Given the description of an element on the screen output the (x, y) to click on. 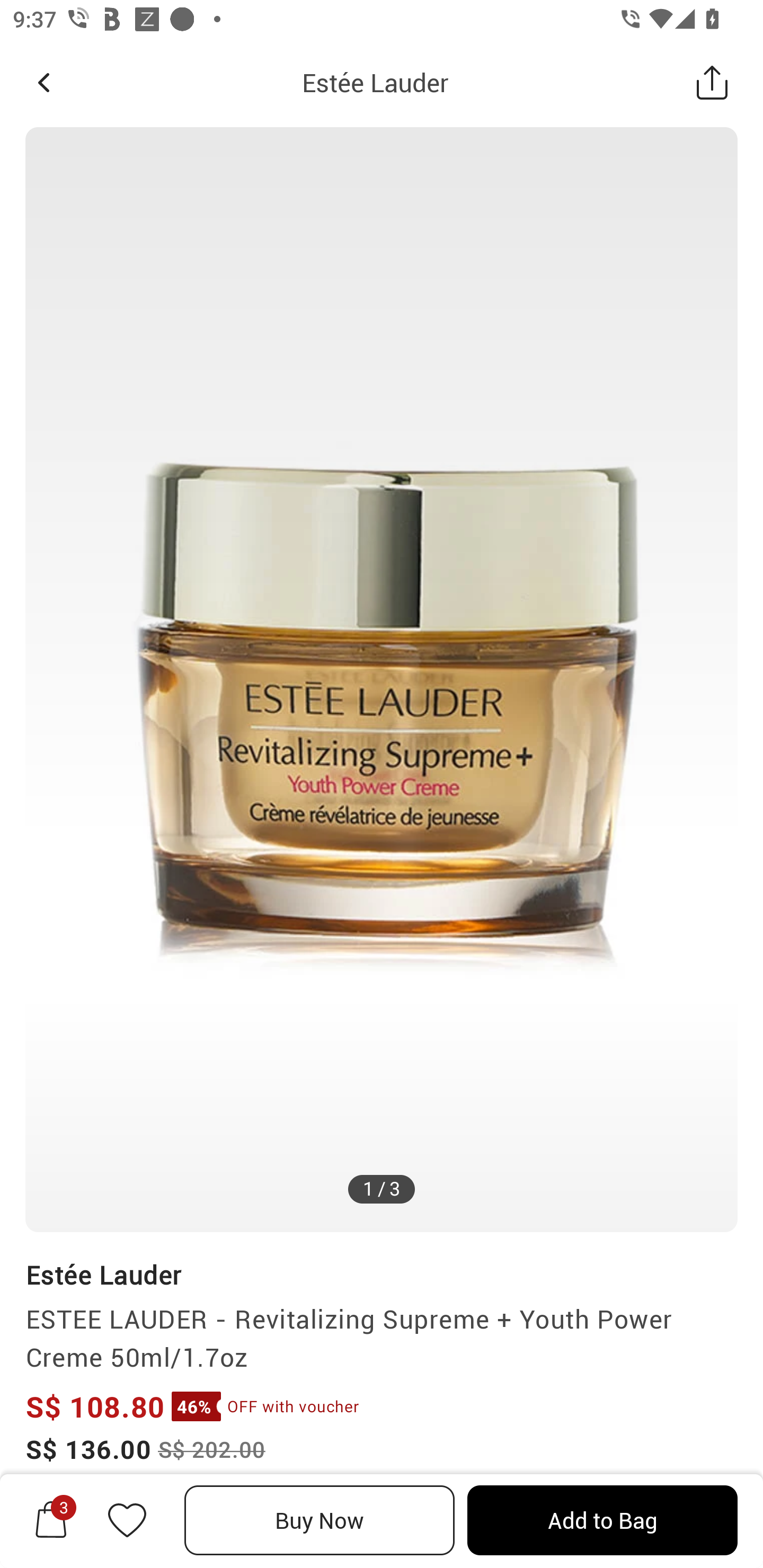
Estée Lauder (375, 82)
Share this Product (711, 82)
Estée Lauder (103, 1274)
Buy Now (319, 1519)
Add to Bag (601, 1519)
3 (50, 1520)
